Given the description of an element on the screen output the (x, y) to click on. 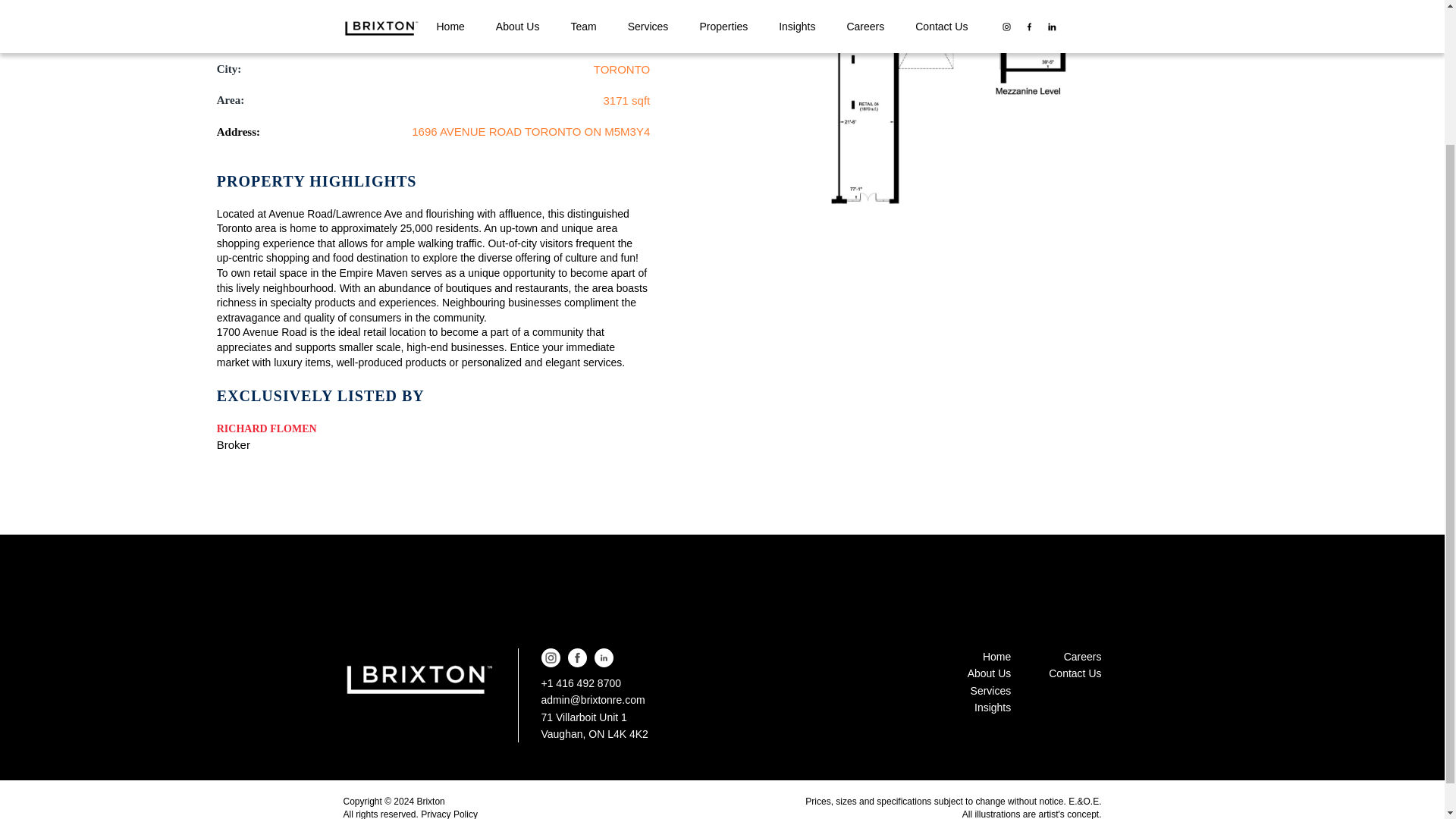
Services (989, 690)
Insights (989, 707)
Contact Us (1074, 673)
RICHARD FLOMEN (266, 428)
About Us (989, 673)
Careers (1074, 656)
Home (989, 656)
